Given the description of an element on the screen output the (x, y) to click on. 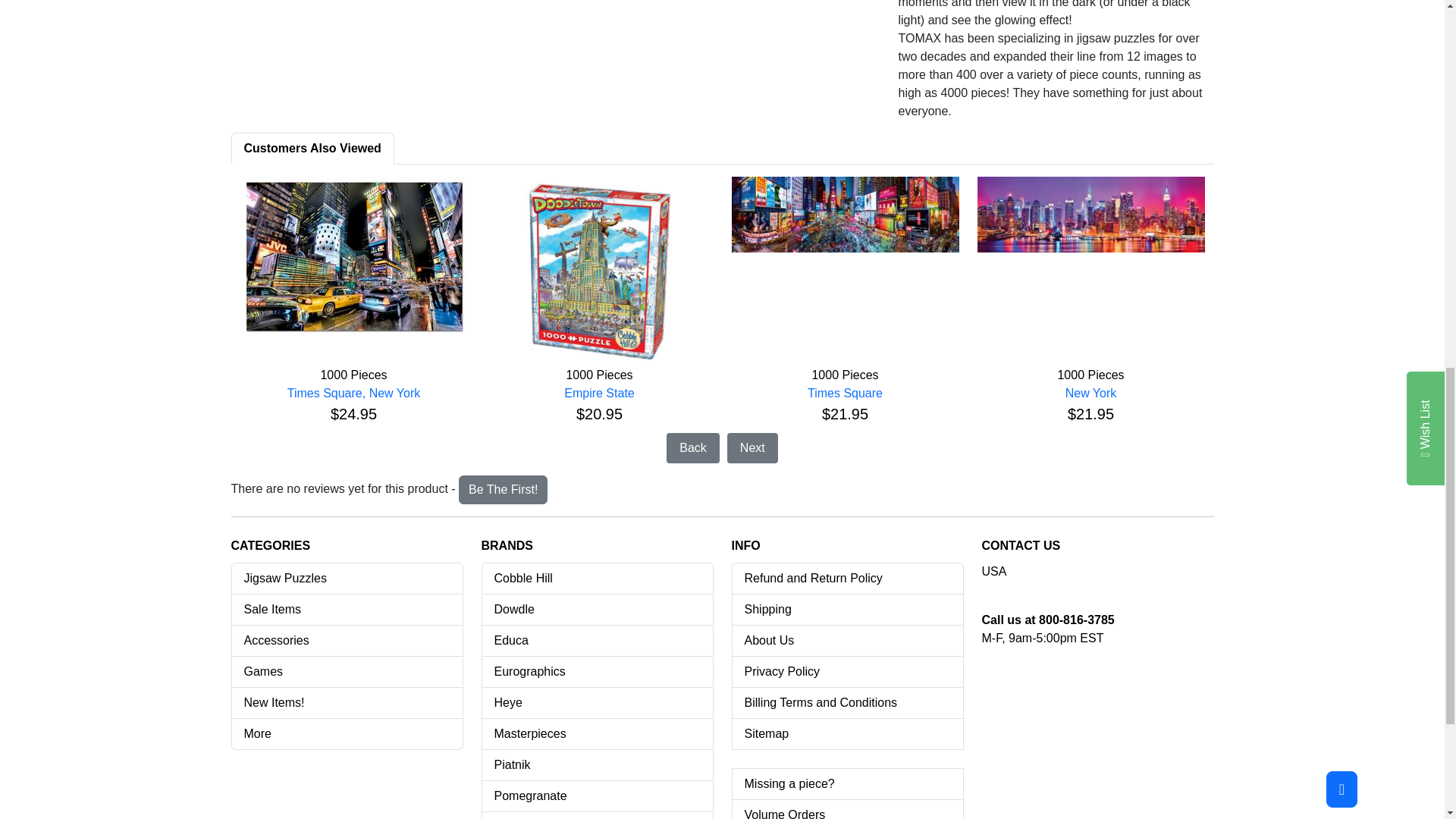
New York New York Panoramic Puzzle By MasterPieces (1090, 214)
Times Square New York Panoramic Puzzle By MasterPieces (844, 214)
Times Square, New York New York Jigsaw Puzzle By Educa (353, 255)
